Given the description of an element on the screen output the (x, y) to click on. 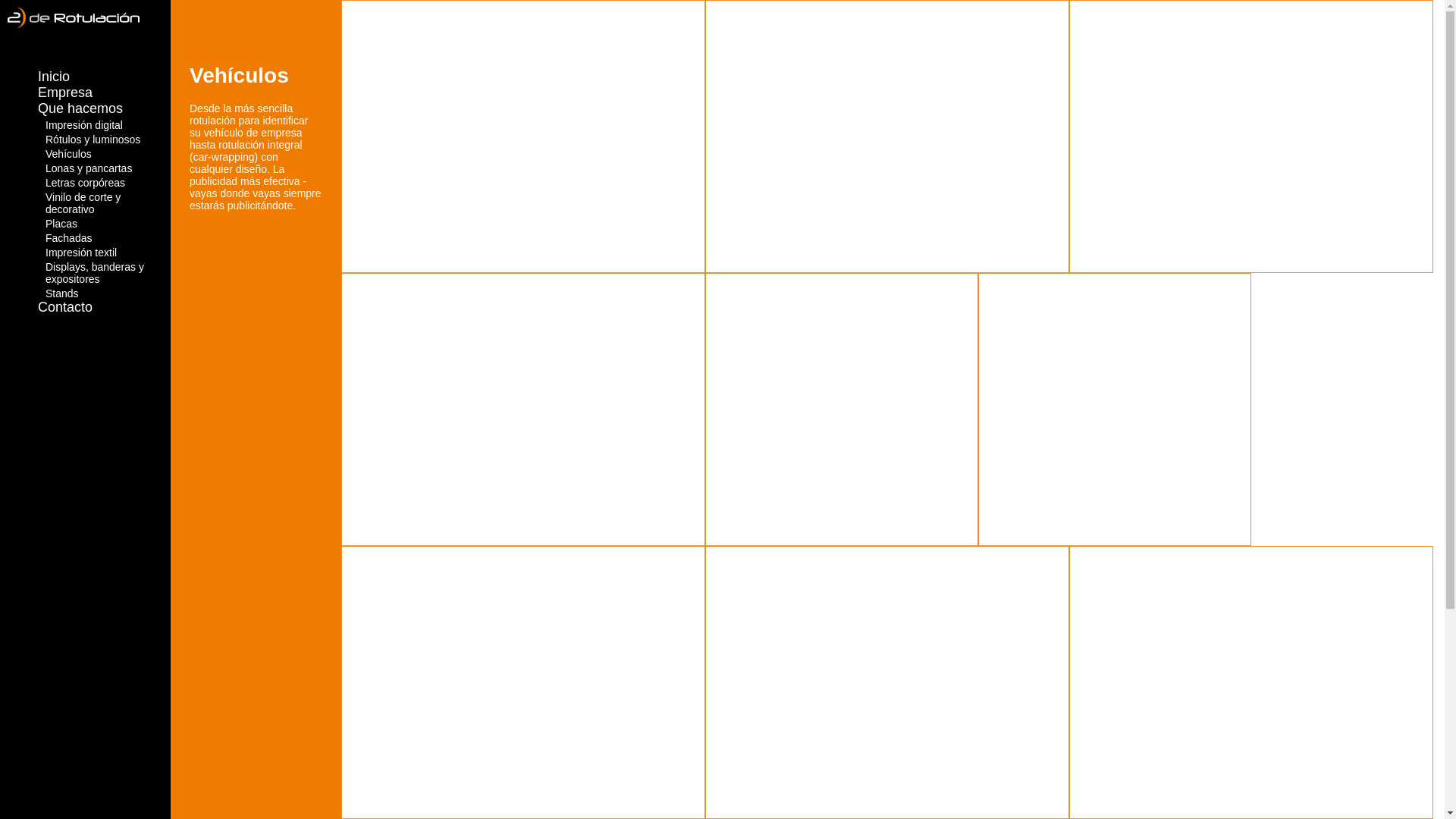
Inicio Element type: text (53, 76)
Contacto Element type: text (64, 306)
Placas Element type: text (107, 223)
Vinilo de corte y decorativo Element type: text (107, 203)
Empresa Element type: text (64, 92)
Que hacemos Element type: text (79, 108)
Fachadas Element type: text (107, 238)
Displays, banderas y expositores Element type: text (107, 272)
Lonas y pancartas Element type: text (107, 168)
Stands Element type: text (107, 293)
